Given the description of an element on the screen output the (x, y) to click on. 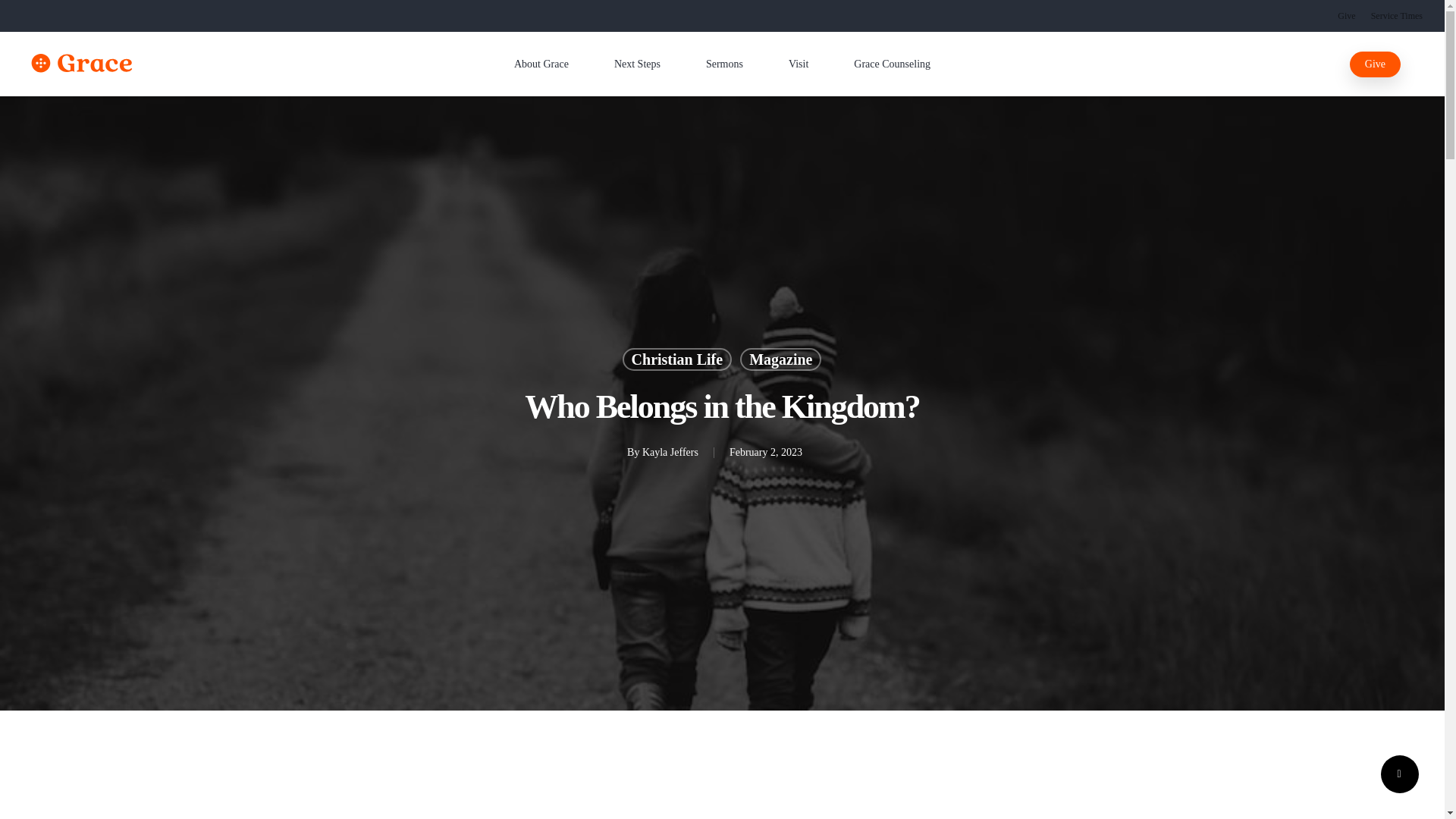
About Grace (541, 63)
Kayla Jeffers (670, 451)
Posts by Kayla Jeffers (670, 451)
Christian Life (677, 359)
Grace Counseling (892, 63)
Give (1346, 15)
Service Times (1396, 15)
Next Steps (636, 63)
Give (1374, 63)
Visit (798, 63)
